Given the description of an element on the screen output the (x, y) to click on. 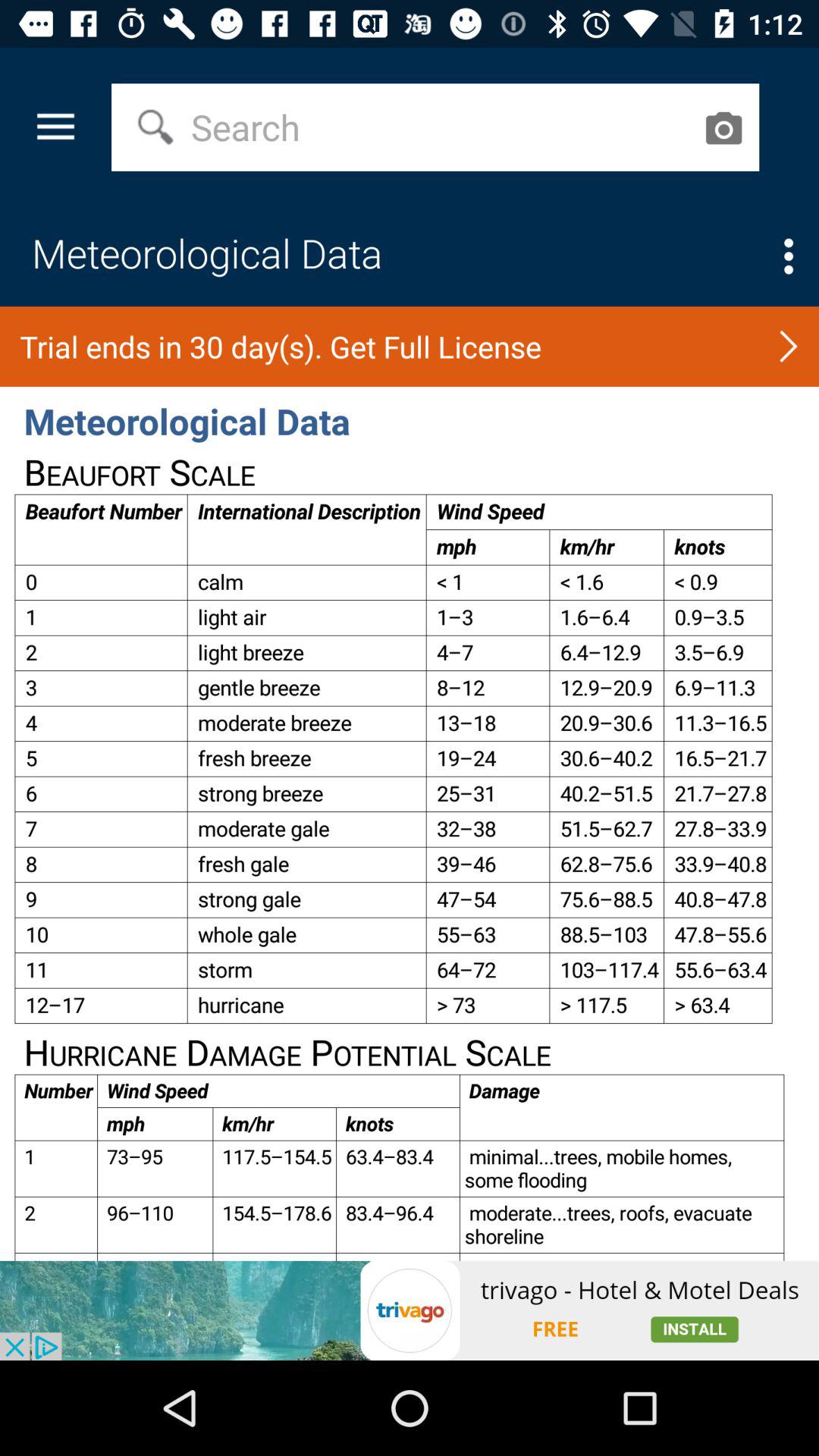
advertisement (409, 1310)
